Given the description of an element on the screen output the (x, y) to click on. 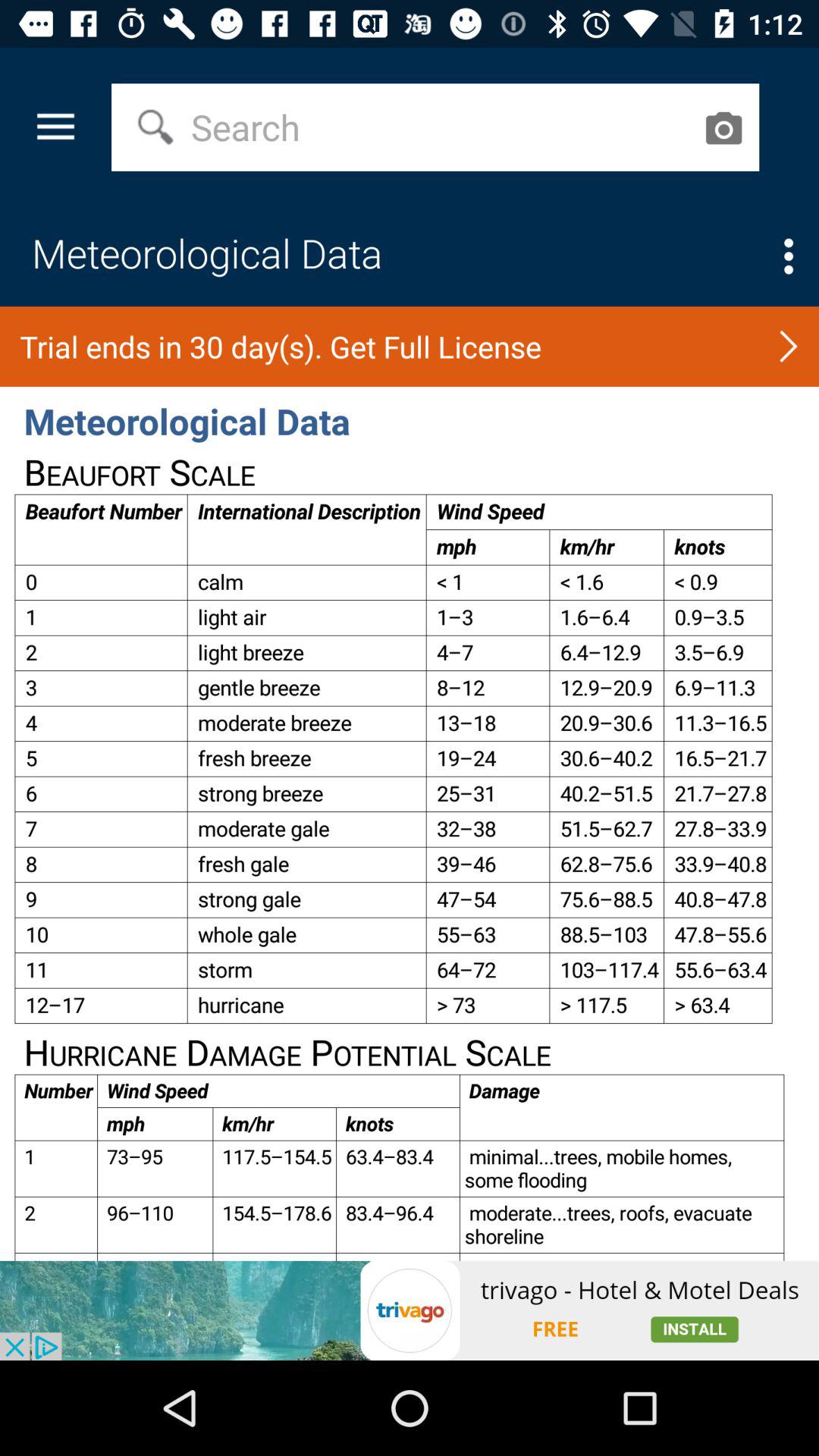
advertisement (409, 1310)
